Given the description of an element on the screen output the (x, y) to click on. 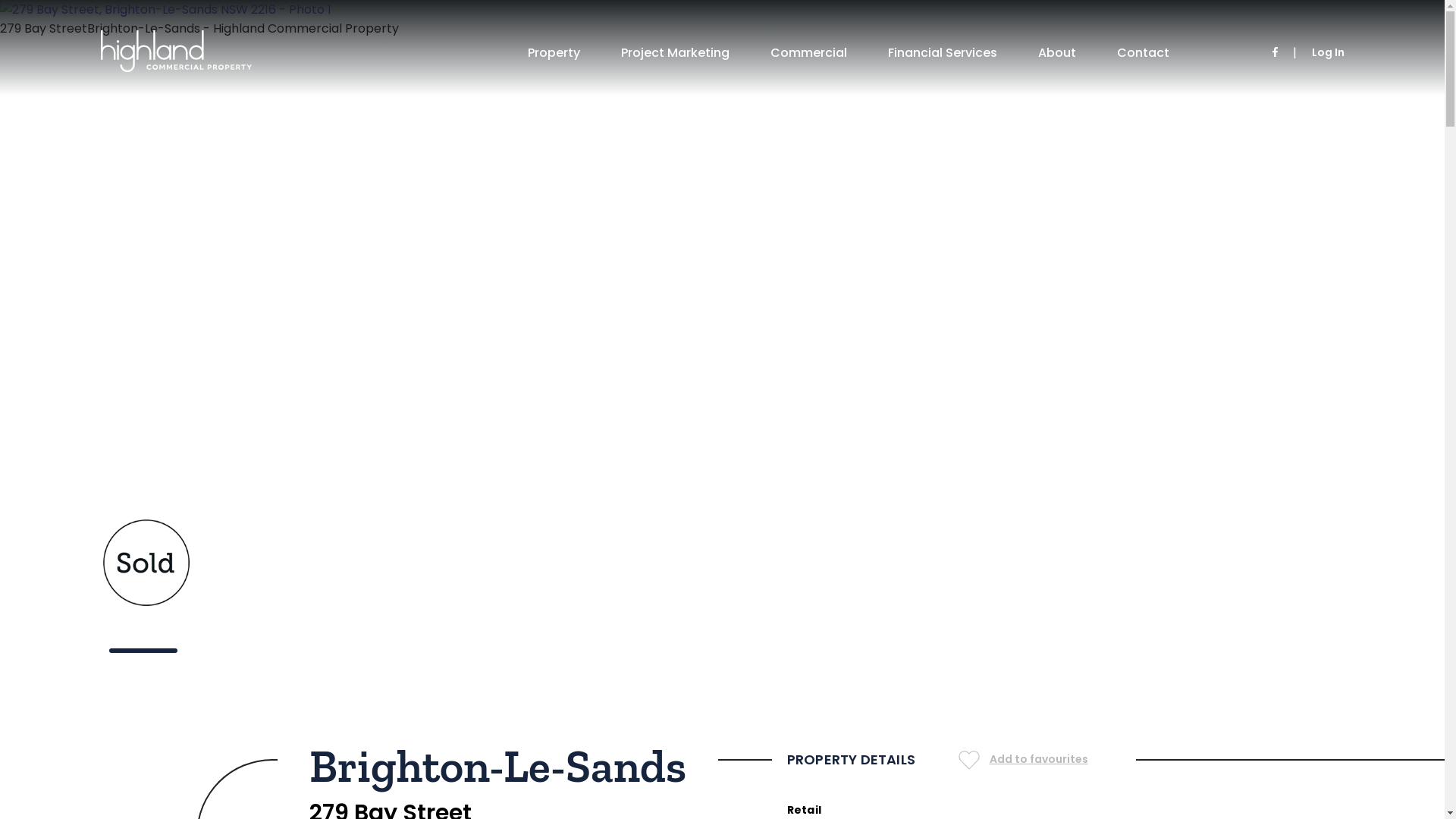
Property Element type: text (553, 51)
Log In Element type: text (1327, 51)
Contact Element type: text (1143, 51)
About Element type: text (1057, 51)
Financial Services Element type: text (942, 51)
Commercial Element type: text (808, 51)
Project Marketing Element type: text (675, 51)
Add to favourites Element type: text (1023, 759)
